Given the description of an element on the screen output the (x, y) to click on. 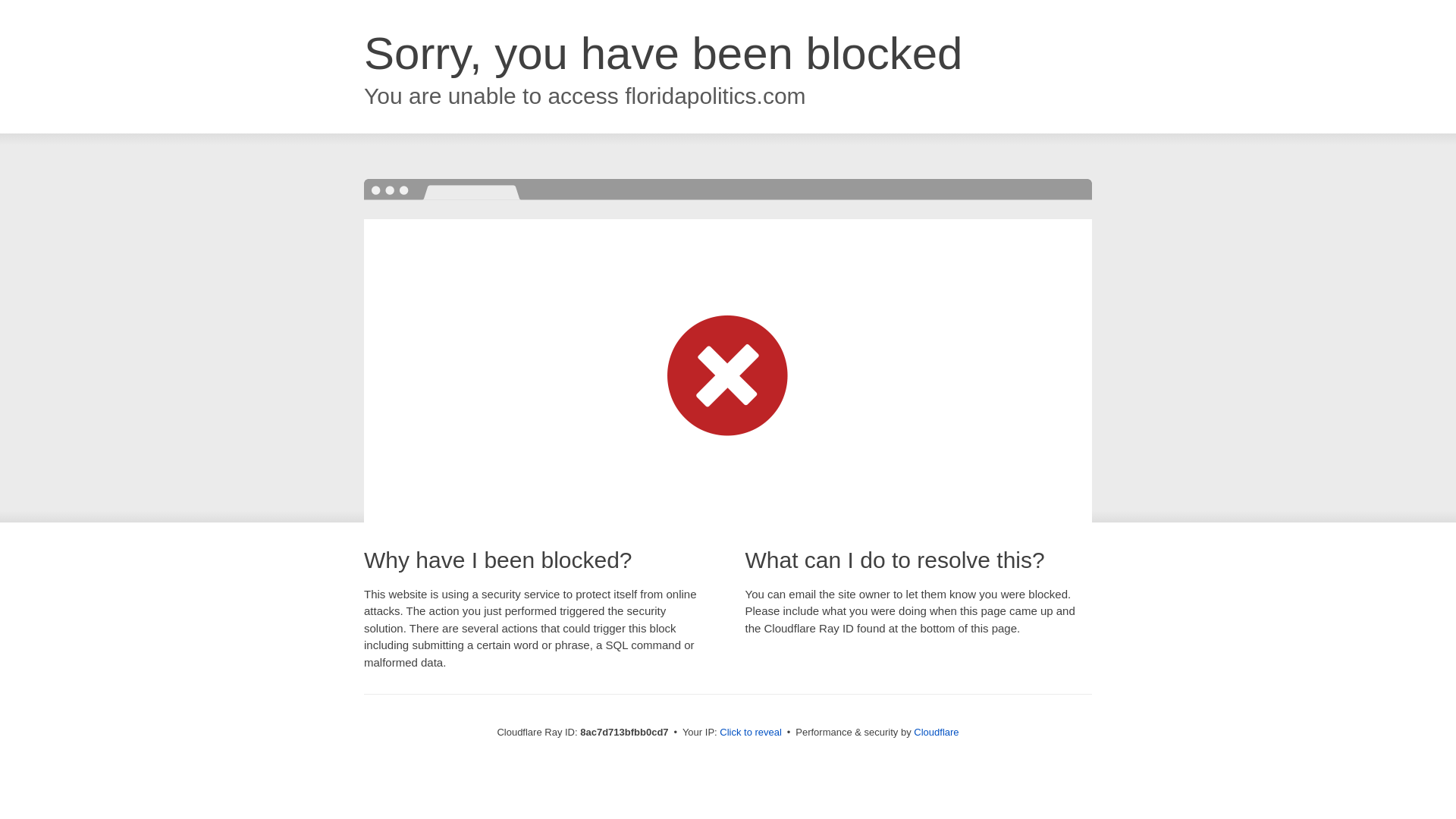
Cloudflare (936, 731)
Click to reveal (750, 732)
